Given the description of an element on the screen output the (x, y) to click on. 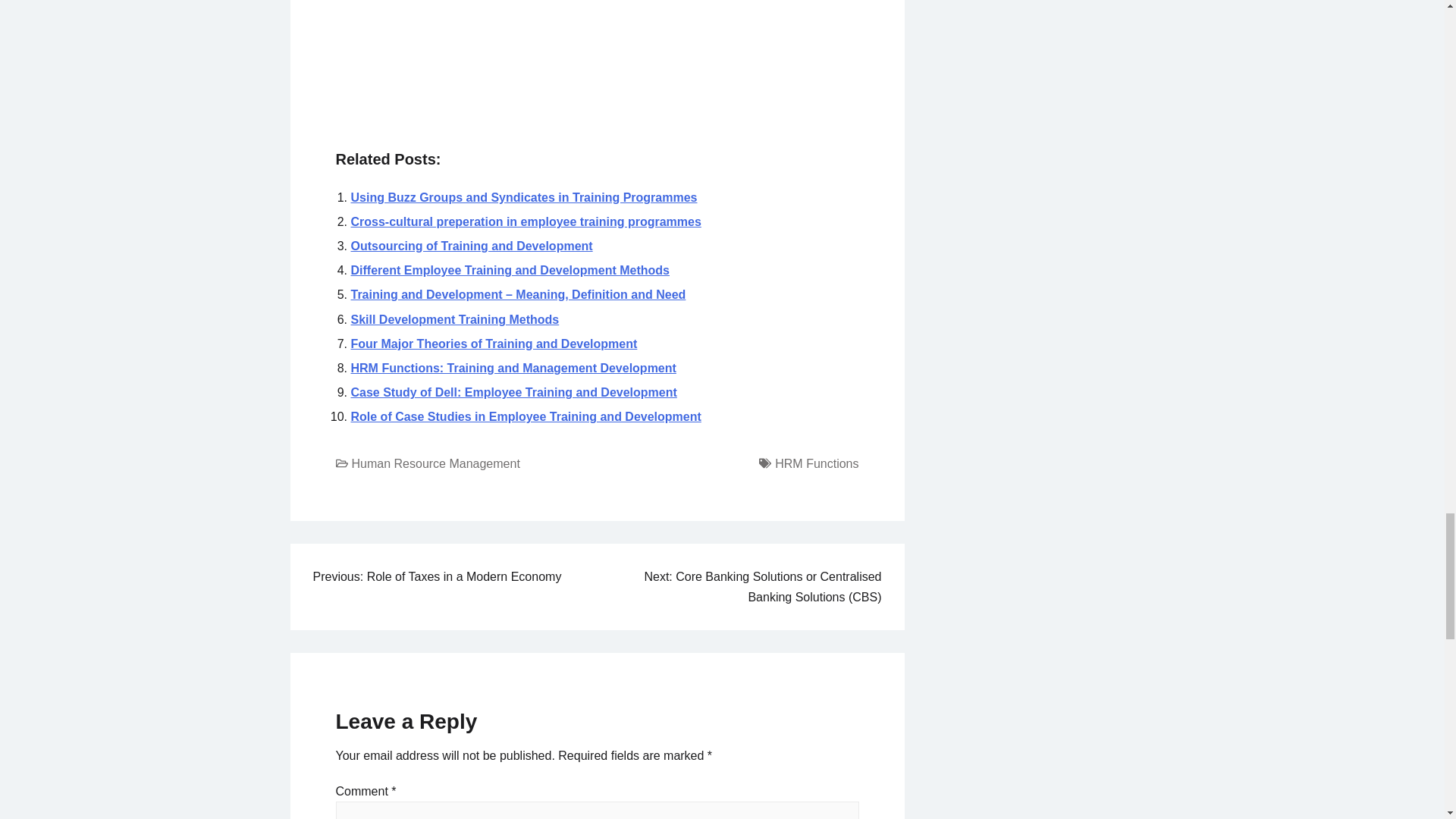
Case Study of Dell: Employee Training and Development (513, 391)
HRM Functions (816, 463)
Using Buzz Groups and Syndicates in Training Programmes (523, 196)
Previous: Role of Taxes in a Modern Economy (436, 576)
Using Buzz Groups and Syndicates in Training Programmes (523, 196)
Different Employee Training and Development Methods (509, 269)
Human Resource Management (435, 463)
Skill Development Training Methods (454, 318)
HRM Functions: Training and Management Development (512, 367)
Outsourcing of Training and Development (471, 245)
Cross-cultural preperation in employee training programmes (525, 221)
Role of Case Studies in Employee Training and Development (525, 416)
Role of Case Studies in Employee Training and Development (525, 416)
Four Major Theories of Training and Development (493, 343)
Different Employee Training and Development Methods (509, 269)
